Given the description of an element on the screen output the (x, y) to click on. 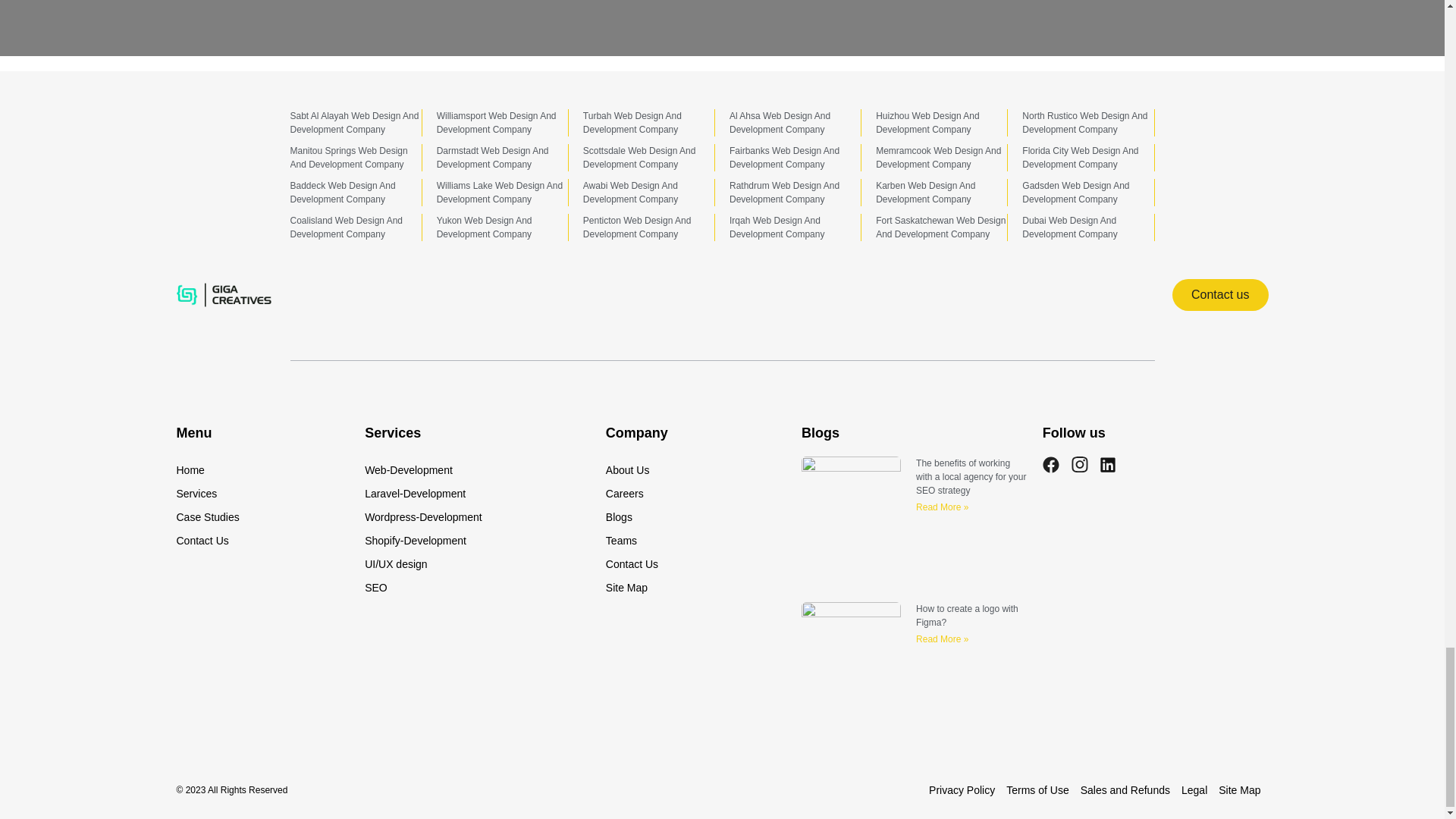
Turbah Web Design And Development Company (632, 122)
Williamsport Web Design And Development Company (496, 122)
Scottsdale Web Design And Development Company (639, 157)
Sabt Al Alayah Web Design And Development Company (354, 122)
Fairbanks Web Design And Development Company (784, 157)
North Rustico Web Design And Development Company (1084, 122)
Manitou Springs Web Design And Development Company (348, 157)
Darmstadt Web Design And Development Company (492, 157)
Huizhou Web Design And Development Company (927, 122)
Al Ahsa Web Design And Development Company (779, 122)
